Given the description of an element on the screen output the (x, y) to click on. 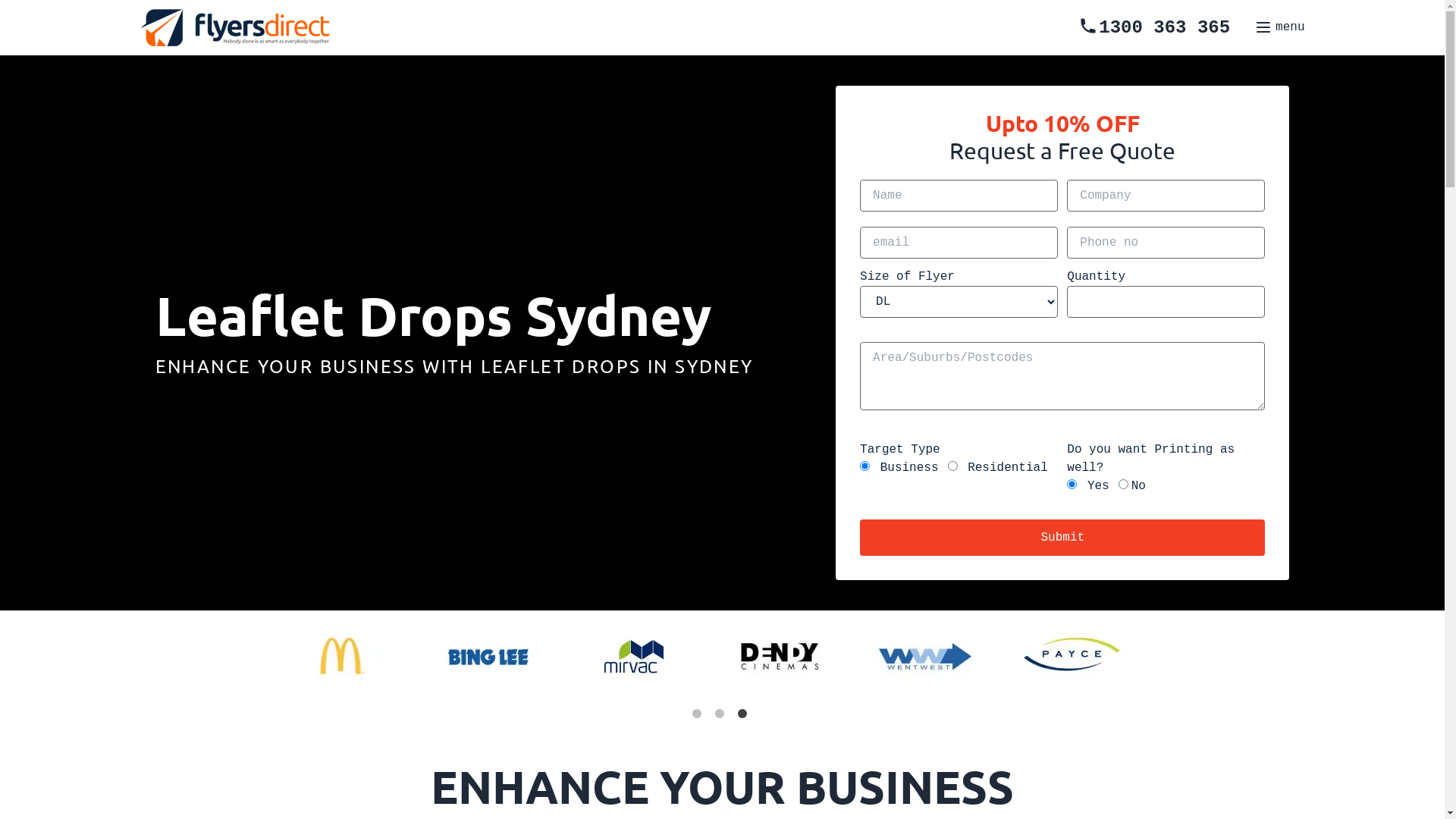
3 Element type: text (744, 716)
Blog Element type: text (746, 420)
Submit Element type: text (1061, 537)
menu Element type: text (1279, 27)
2 Element type: text (721, 716)
AVAIL NOW Element type: text (787, 427)
1300 363 365 Element type: text (1153, 27)
Contact Element type: text (760, 420)
Leaflet Drops Element type: text (784, 420)
1 Element type: text (698, 716)
Home Element type: text (752, 420)
